Given the description of an element on the screen output the (x, y) to click on. 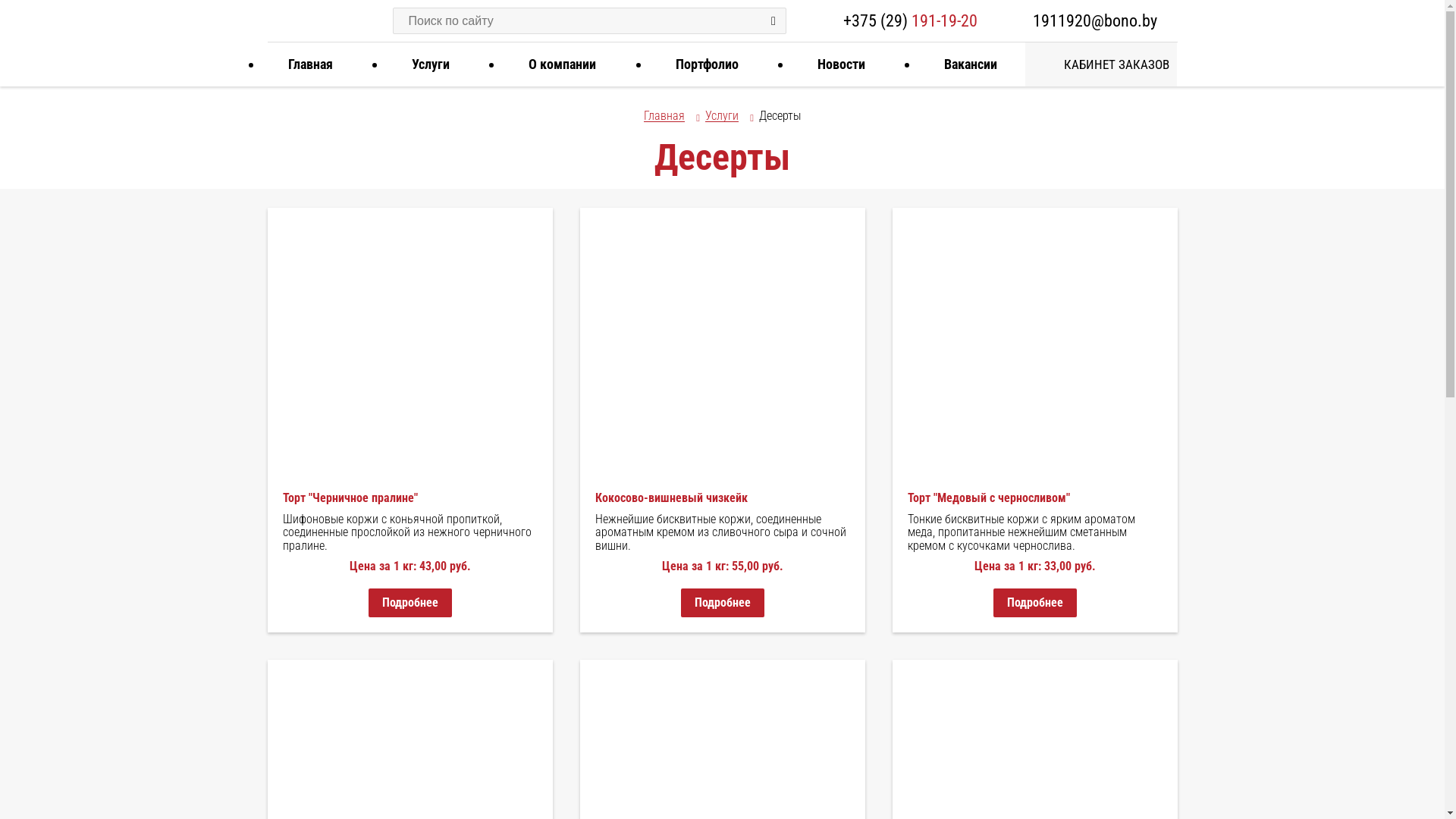
1911920@bono.by Element type: text (1094, 19)
+375 (29) 191-19-20 Element type: text (910, 19)
